Given the description of an element on the screen output the (x, y) to click on. 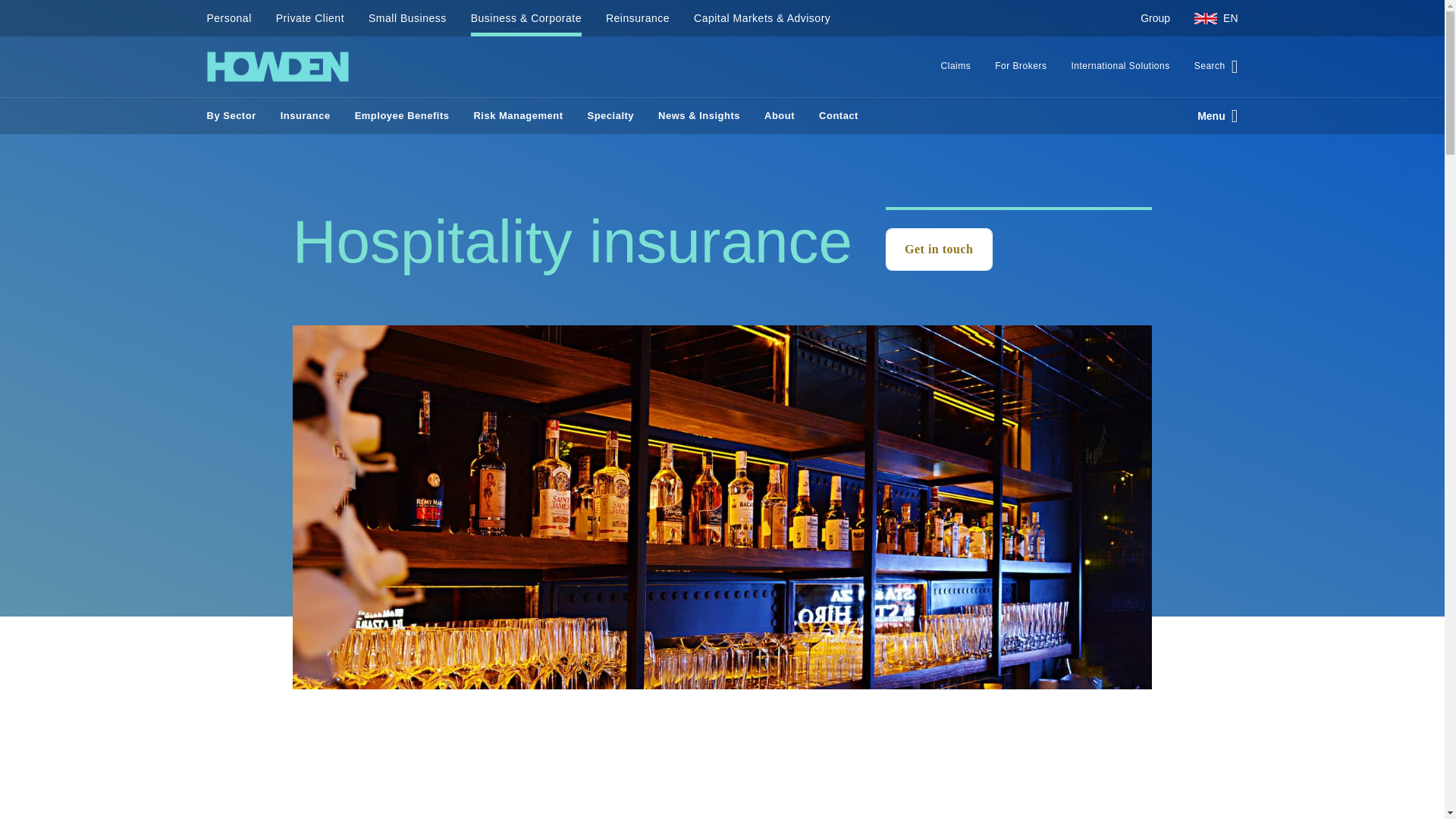
Personal (234, 18)
Howden Broking Group (276, 66)
EN (1209, 18)
Small Business (407, 18)
Search (1210, 66)
Group (1155, 18)
Menu (1211, 115)
For Brokers (1020, 66)
Claims (956, 66)
International Solutions (1119, 66)
Reinsurance (637, 18)
Private Client (309, 18)
